Given the description of an element on the screen output the (x, y) to click on. 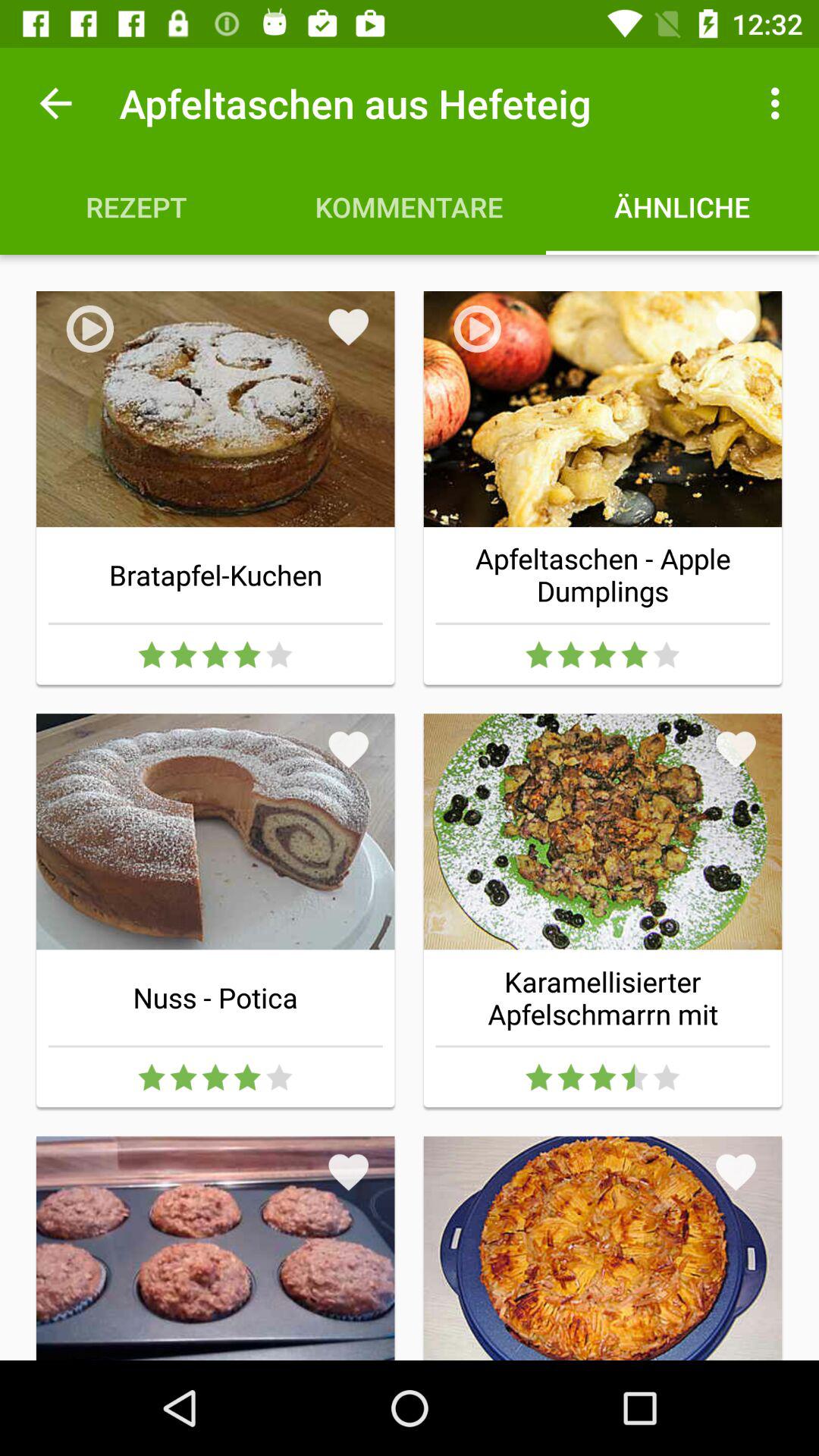
turn off the item below the kommentare icon (348, 326)
